Given the description of an element on the screen output the (x, y) to click on. 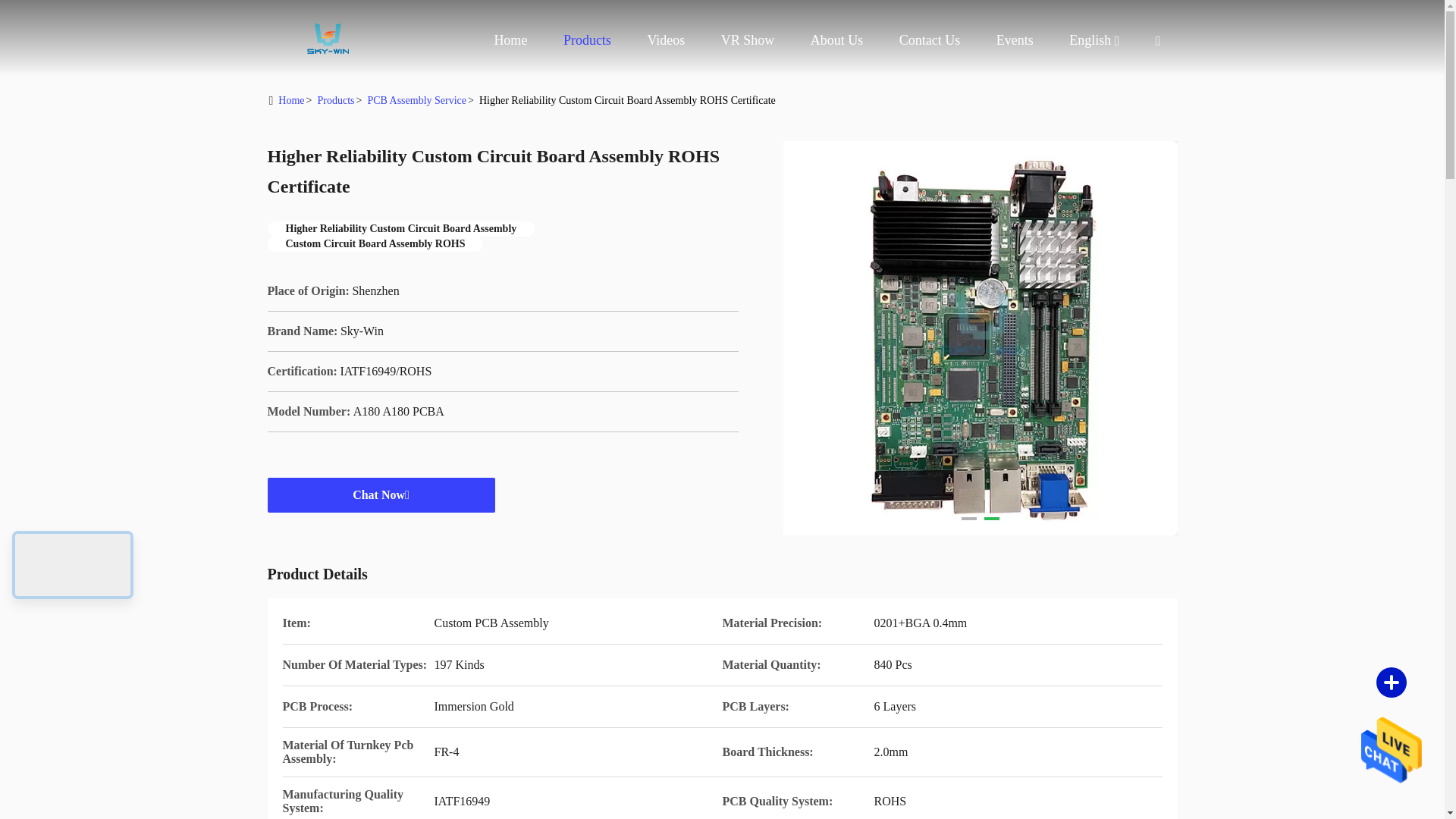
Home (510, 40)
Home (327, 37)
Videos (665, 40)
Home (510, 40)
Contact Us (929, 40)
Products (587, 40)
Products (587, 40)
Events (1014, 40)
Videos (665, 40)
About Us (836, 40)
VR Show (747, 40)
About Us (836, 40)
VR Show (747, 40)
